Given the description of an element on the screen output the (x, y) to click on. 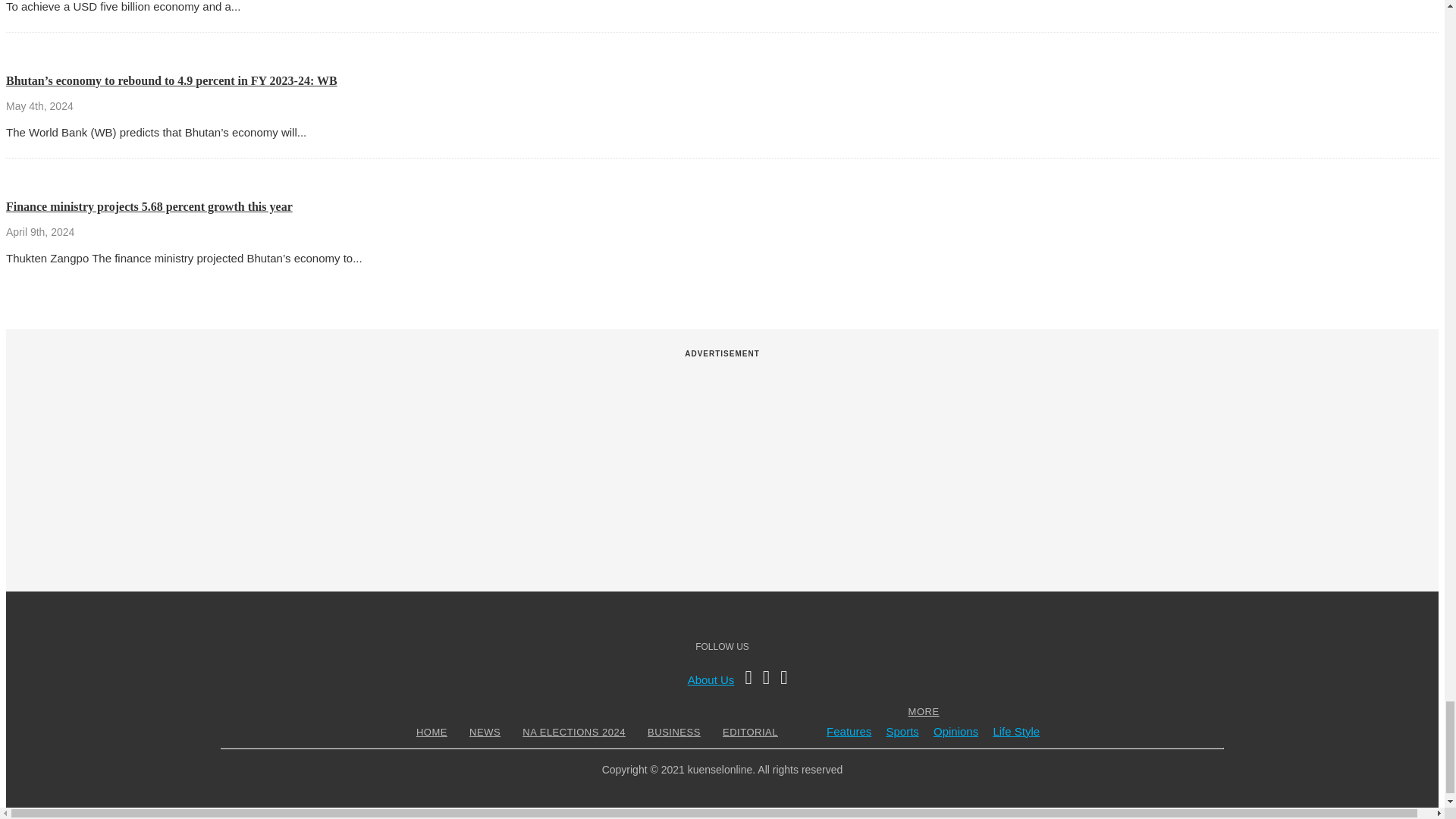
BUSINESS (673, 731)
Finance ministry projects 5.68 percent growth this year (148, 205)
About Us (711, 679)
MORE (923, 711)
HOME (431, 731)
EDITORIAL (750, 731)
NA ELECTIONS 2024 (573, 731)
NEWS (484, 731)
